Given the description of an element on the screen output the (x, y) to click on. 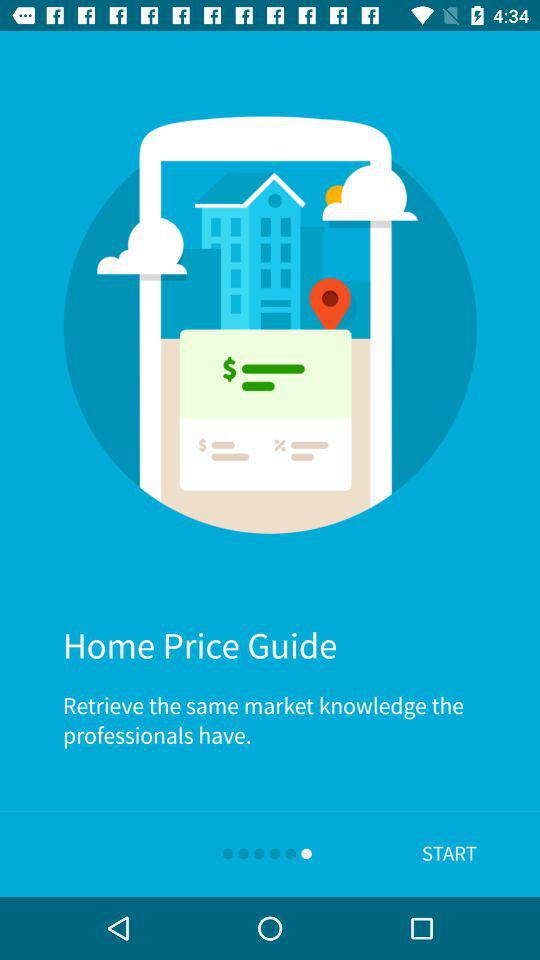
select the item at the bottom right corner (449, 853)
